Given the description of an element on the screen output the (x, y) to click on. 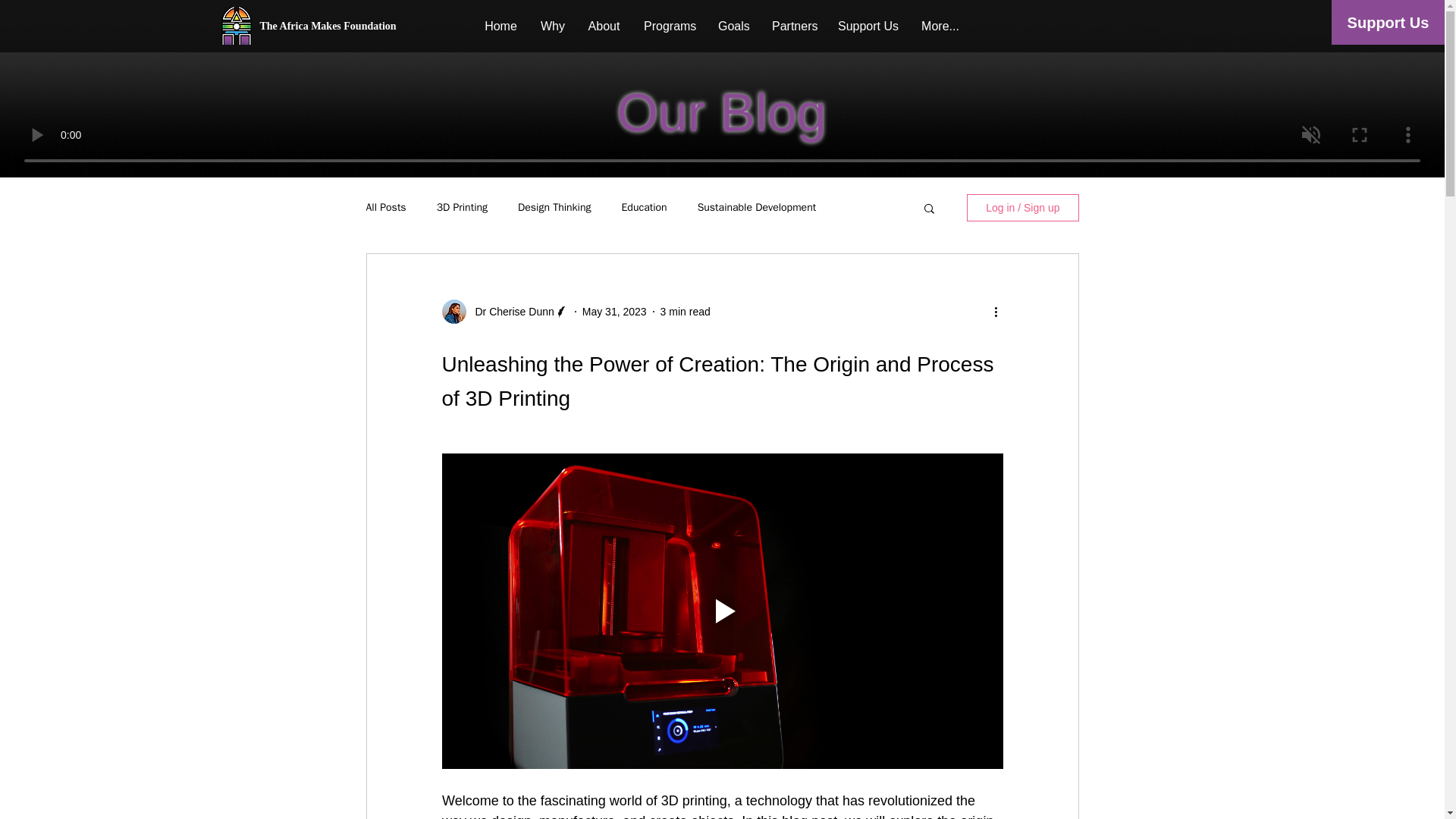
Support Us (868, 26)
All Posts (385, 207)
Home (500, 26)
Partners (793, 26)
Why (552, 26)
Sustainable Development (756, 207)
About (603, 26)
3 min read (685, 310)
Education (643, 207)
Dr Cherise Dunn (509, 311)
